Given the description of an element on the screen output the (x, y) to click on. 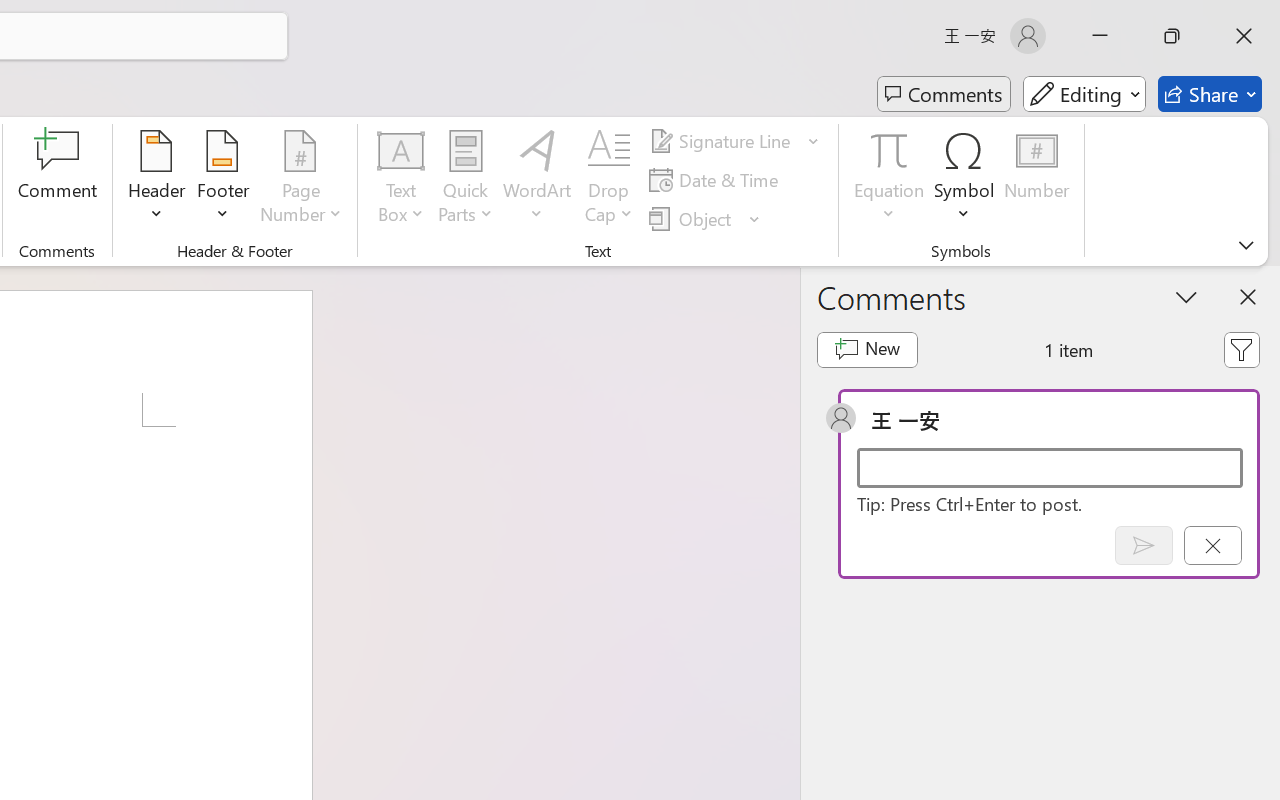
Comment (58, 179)
Footer (222, 179)
Signature Line (722, 141)
Number... (1036, 179)
Signature Line (734, 141)
Post comment (Ctrl + Enter) (1143, 545)
Equation (889, 150)
WordArt (537, 179)
Text Box (400, 179)
New comment (866, 350)
Drop Cap (609, 179)
Start a conversation (1050, 467)
